Given the description of an element on the screen output the (x, y) to click on. 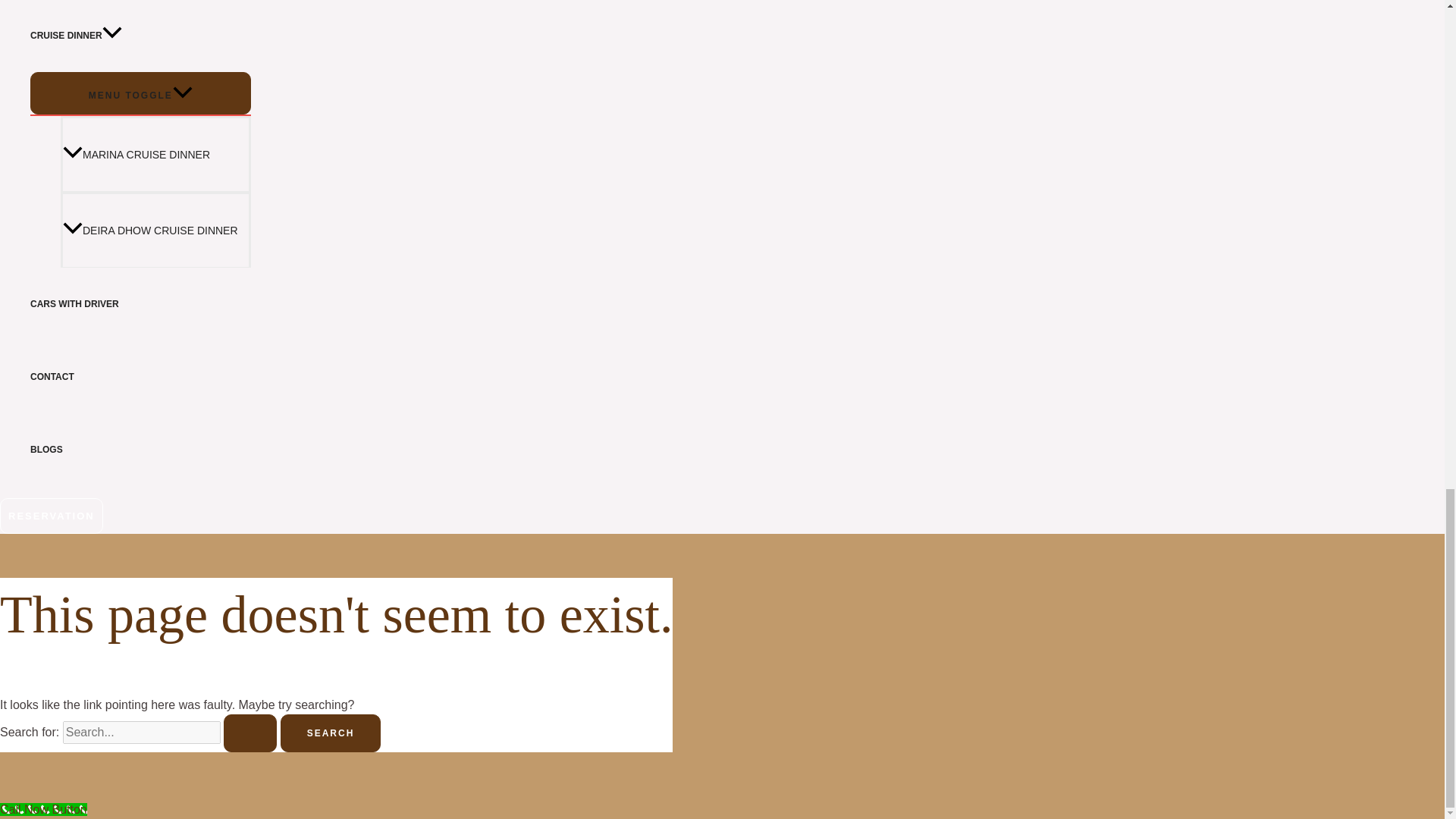
RESERVATION (51, 515)
Search (331, 733)
DEIRA DHOW CRUISE DINNER (155, 229)
Search (331, 733)
MENU TOGGLE (140, 93)
BLOGS (140, 449)
MARINA CRUISE DINNER (155, 153)
CARS WITH DRIVER (140, 303)
CRUISE DINNER (140, 36)
CONTACT (140, 376)
